Given the description of an element on the screen output the (x, y) to click on. 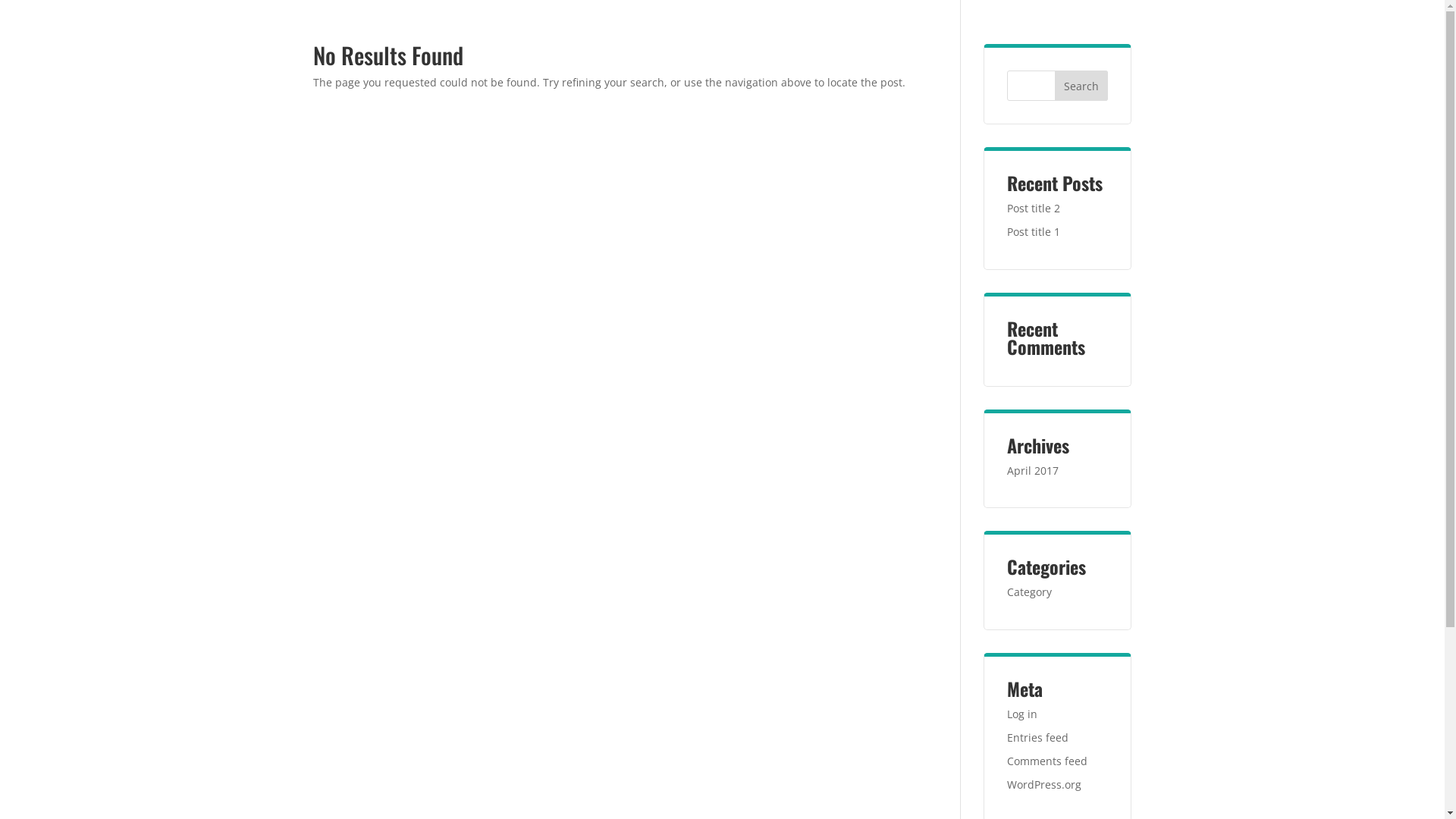
April 2017 Element type: text (1032, 470)
Log in Element type: text (1022, 713)
WordPress.org Element type: text (1044, 784)
Post title 1 Element type: text (1033, 231)
Entries feed Element type: text (1037, 737)
Category Element type: text (1029, 591)
Comments feed Element type: text (1047, 760)
Post title 2 Element type: text (1033, 207)
Search Element type: text (1080, 85)
